Given the description of an element on the screen output the (x, y) to click on. 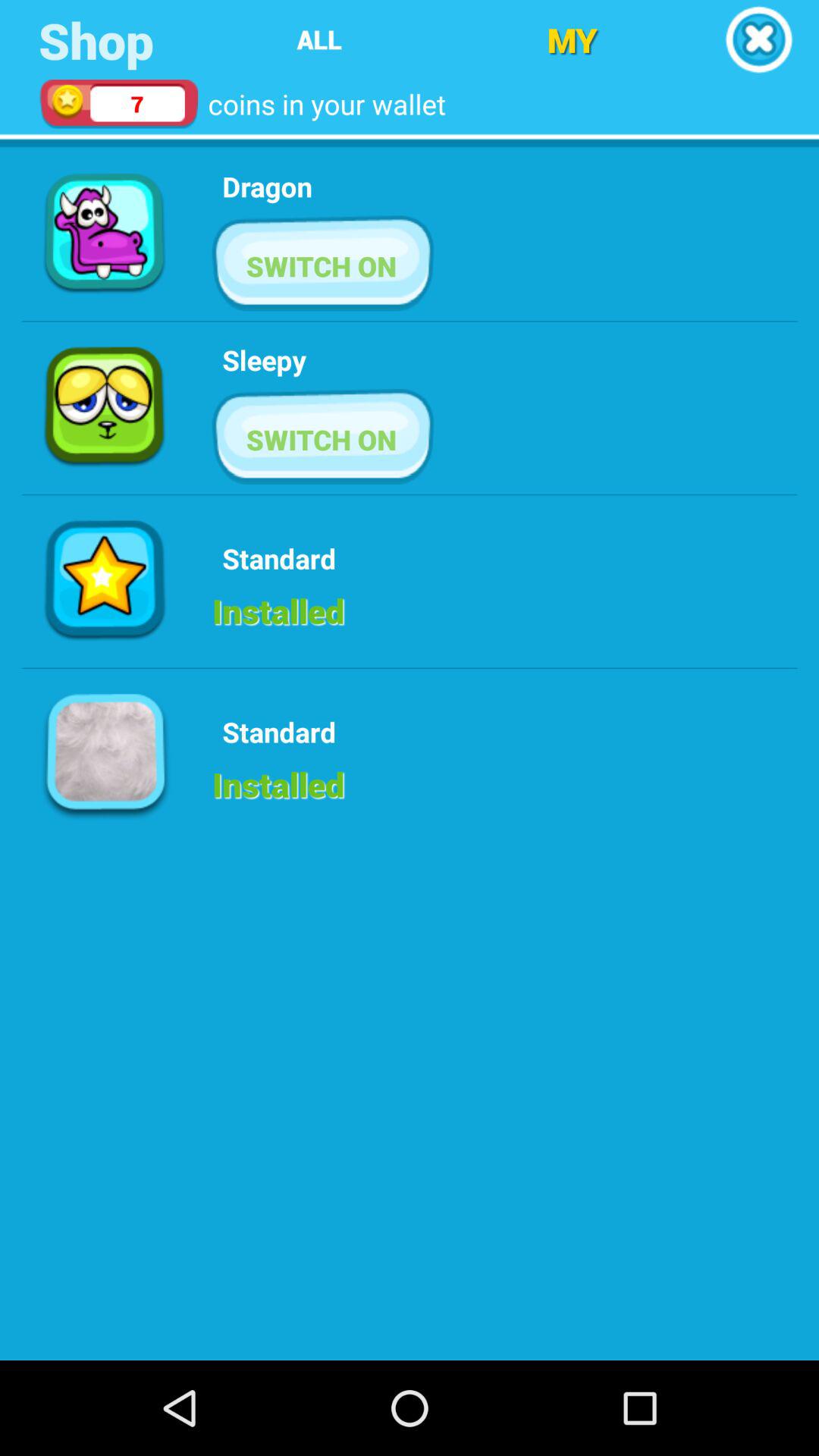
click the icon above coins in your icon (318, 39)
